Given the description of an element on the screen output the (x, y) to click on. 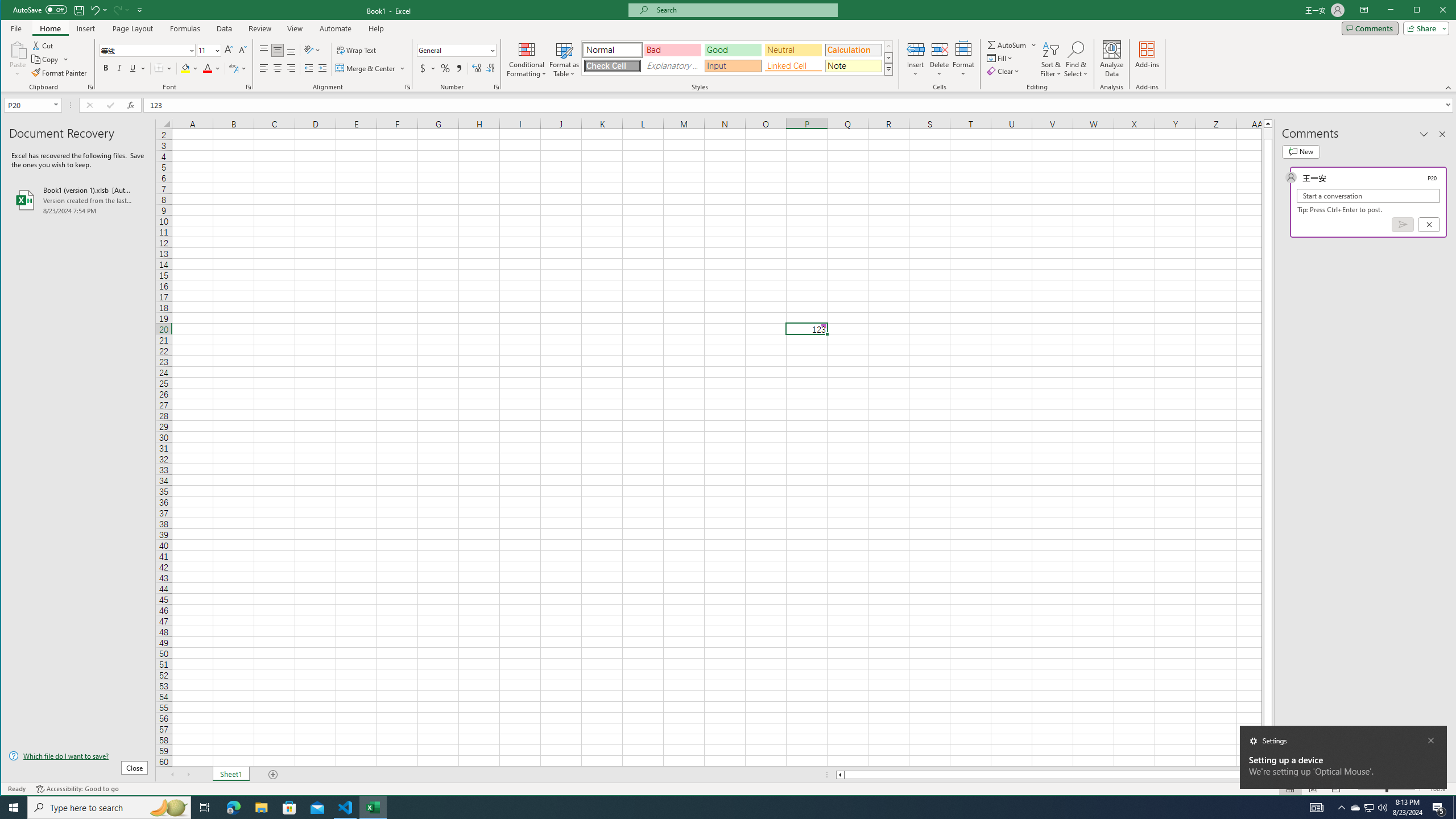
Timeline (625, 59)
Visual Studio Code - 1 running window (345, 807)
Win/Loss (565, 59)
Page Break Preview (1335, 788)
Recommended Charts (1355, 807)
Quick Access Toolbar (460, 86)
PivotTable (79, 9)
Screenshot (22, 48)
Start (254, 57)
Action Center, 5 new notifications (13, 807)
Book1 (version 1).xlsb  [AutoRecovered] (1439, 807)
Post comment (Ctrl + Enter) (78, 199)
View (1402, 224)
